Given the description of an element on the screen output the (x, y) to click on. 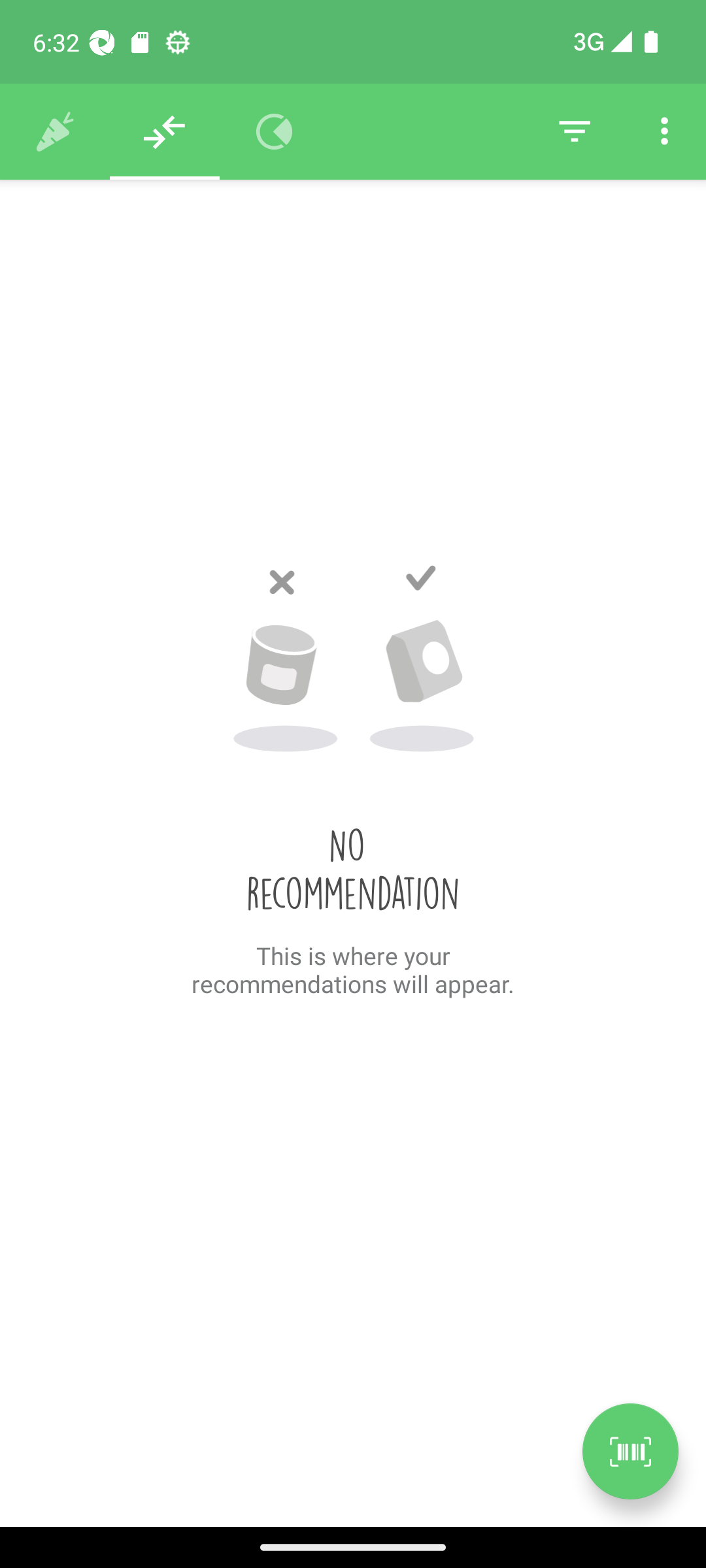
History (55, 131)
Overview (274, 131)
Filter (573, 131)
Settings (664, 131)
Scan a product (630, 1451)
